Given the description of an element on the screen output the (x, y) to click on. 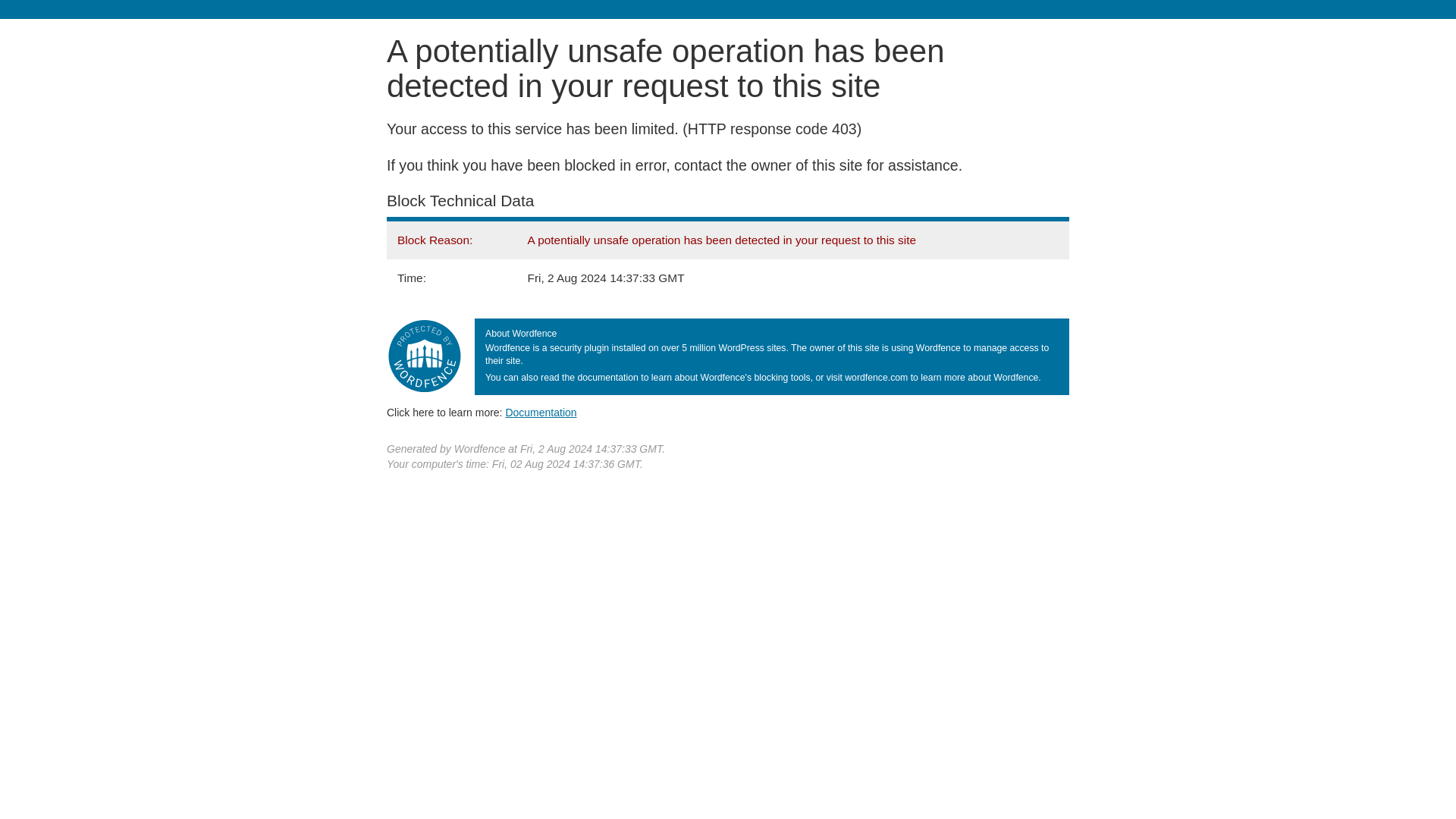
Documentation (540, 412)
